Given the description of an element on the screen output the (x, y) to click on. 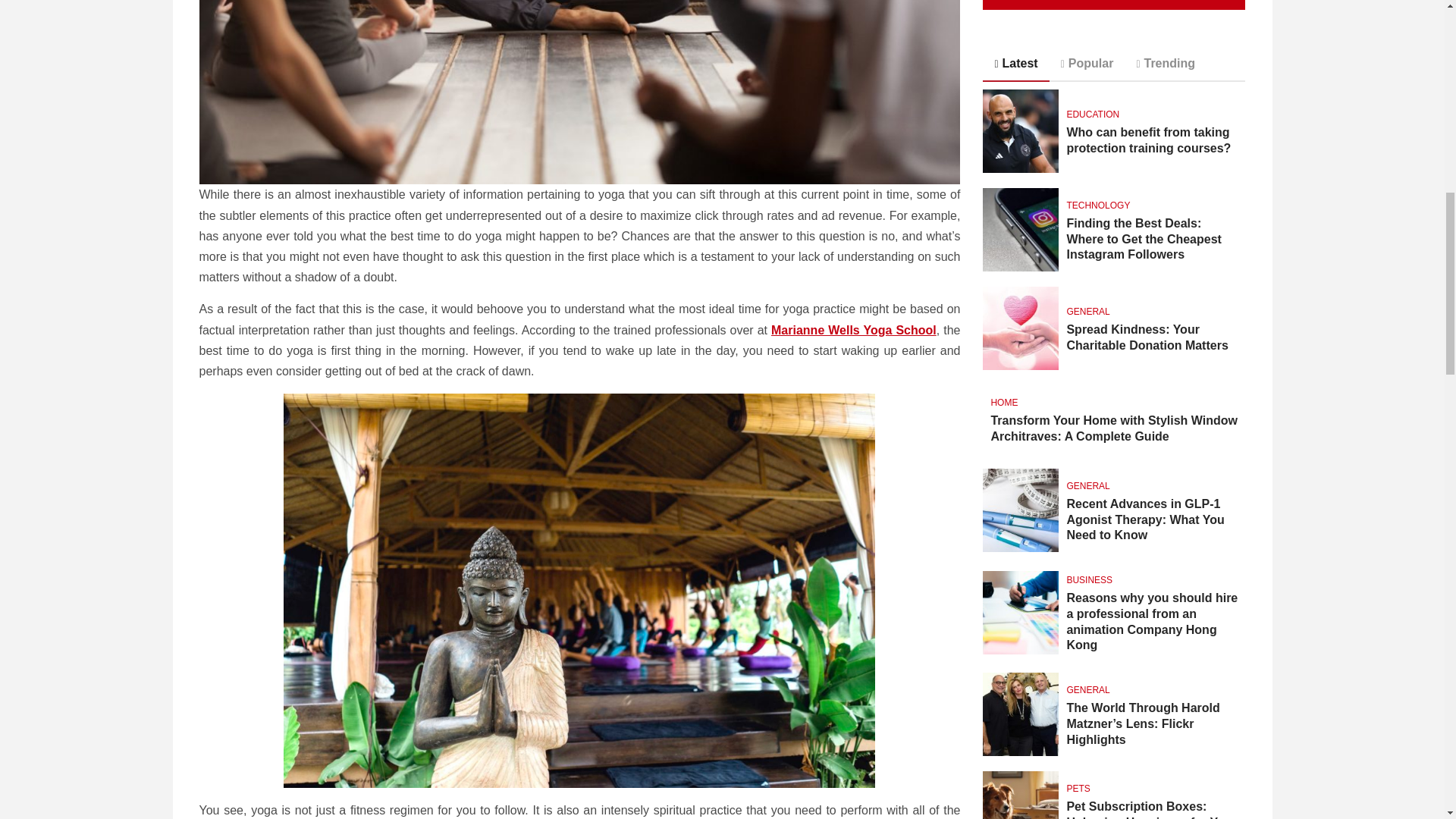
Marianne Wells Yoga School (853, 329)
